Given the description of an element on the screen output the (x, y) to click on. 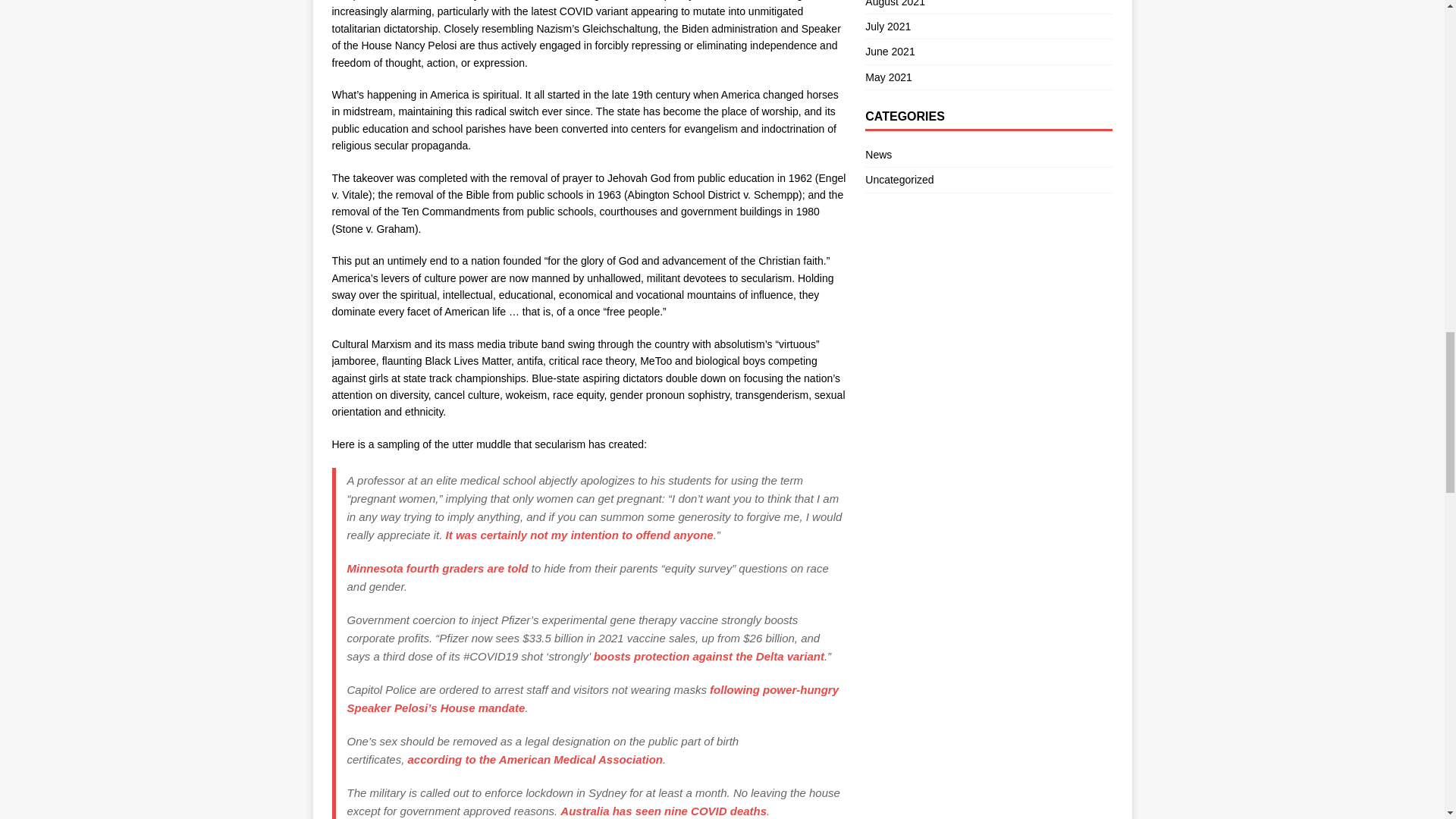
according to the American Medical Association (534, 758)
boosts protection against the Delta variant (709, 656)
It was certainly not my intention to offend anyone (579, 534)
Minnesota fourth graders are told (437, 567)
Australia has seen nine COVID deaths (663, 810)
